Given the description of an element on the screen output the (x, y) to click on. 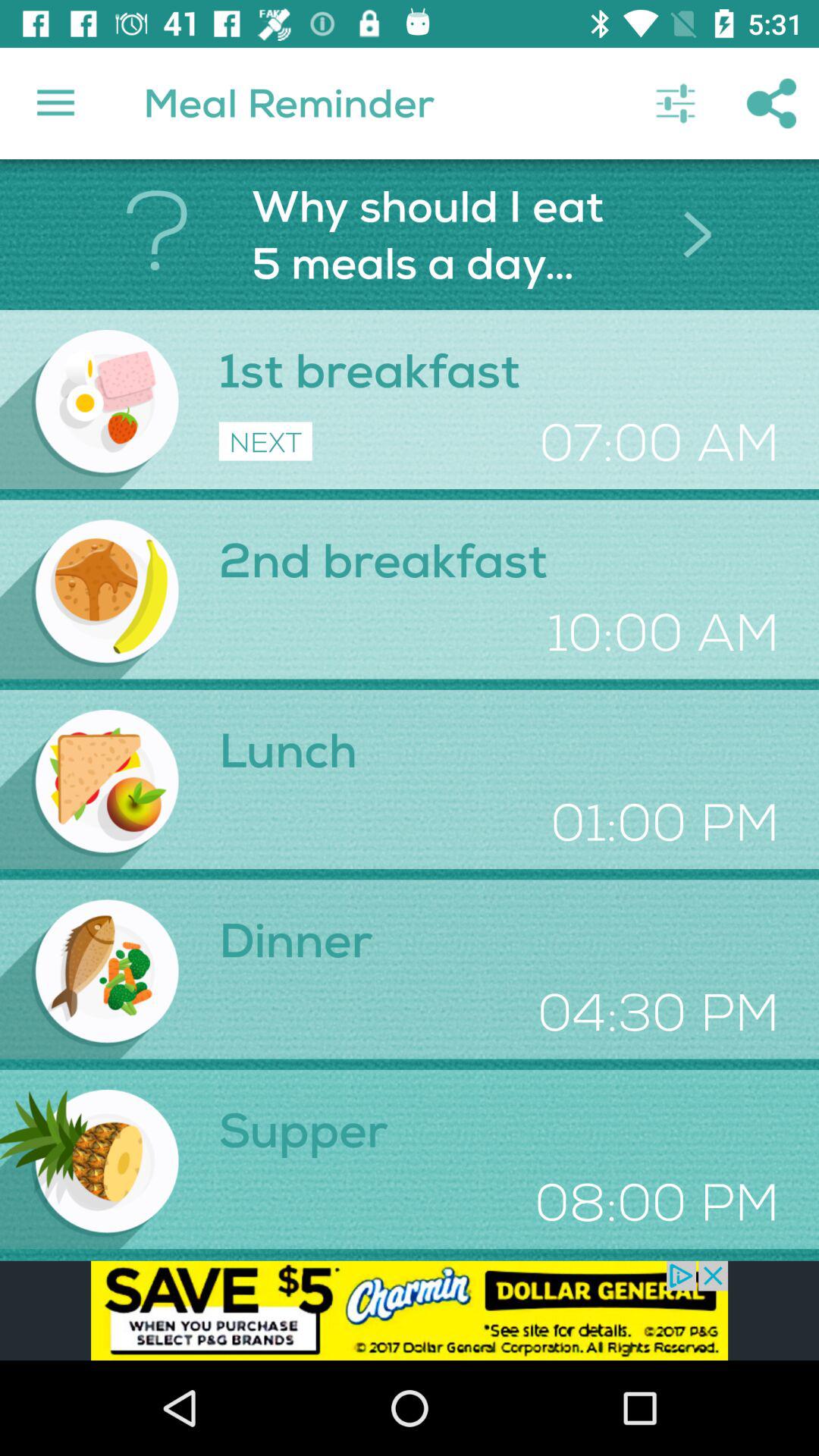
share the article (409, 1310)
